Given the description of an element on the screen output the (x, y) to click on. 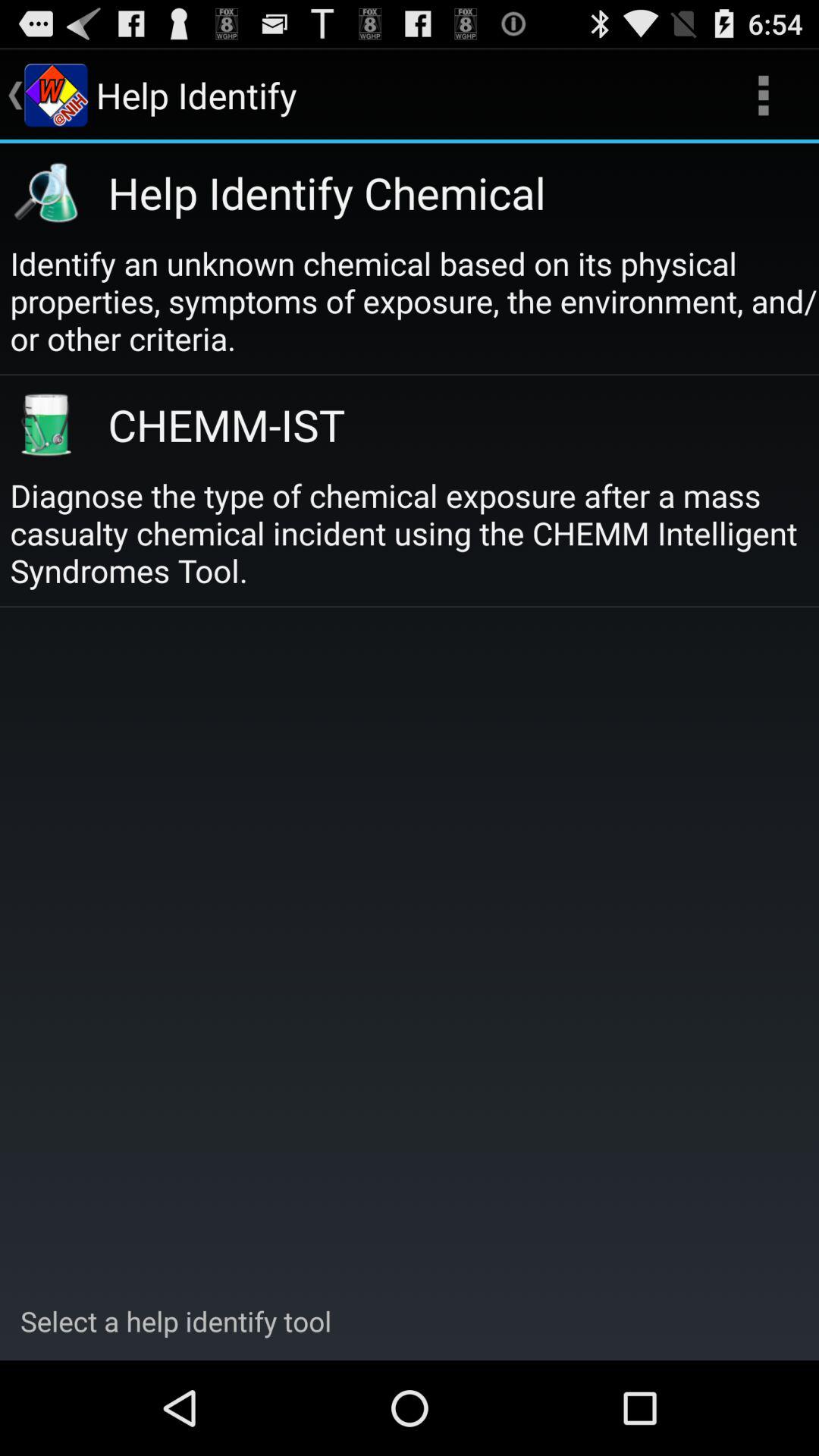
open the diagnose the type (414, 532)
